Given the description of an element on the screen output the (x, y) to click on. 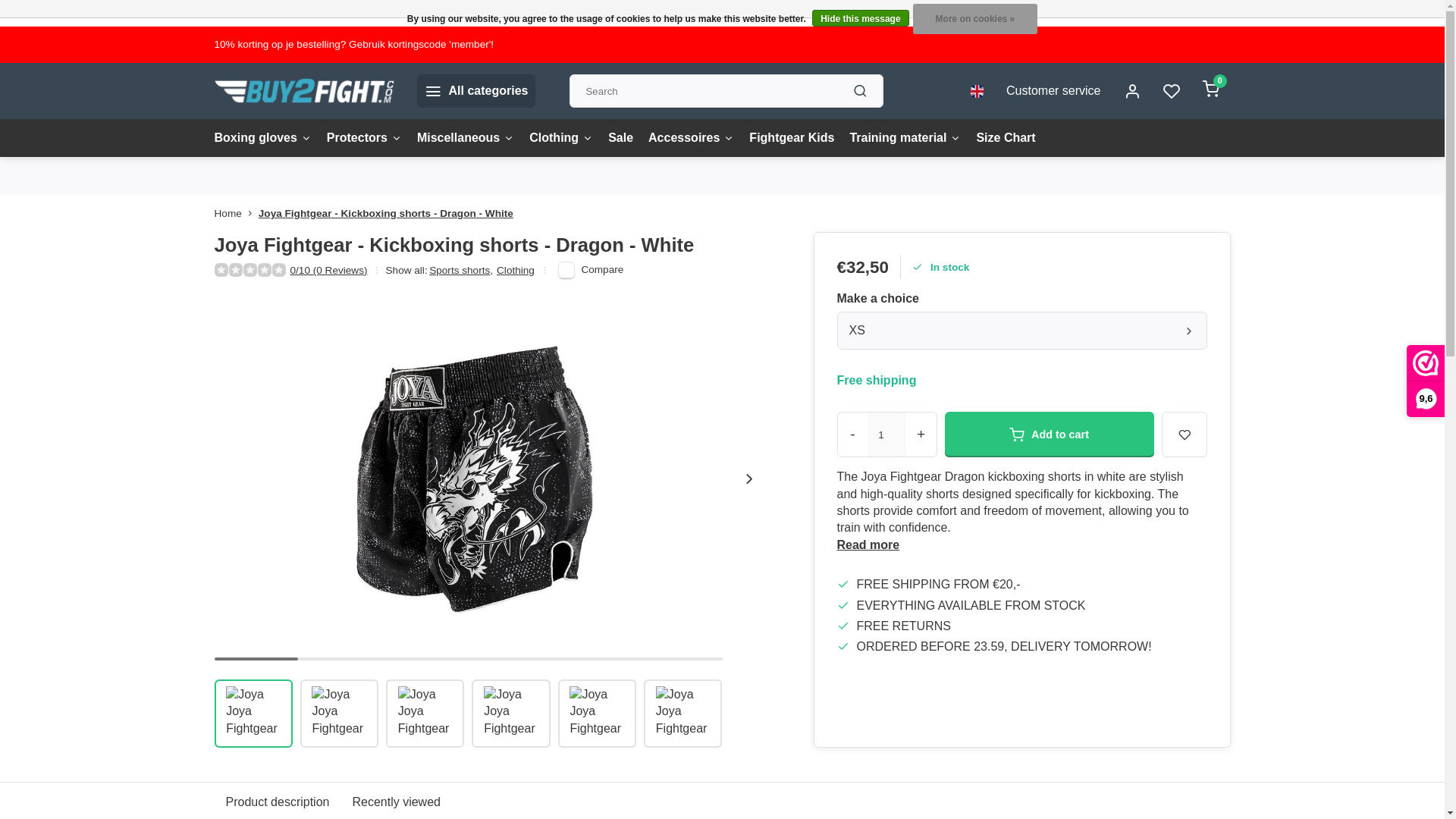
Protectors (363, 137)
Boxing gloves (262, 137)
Miscellaneous (464, 137)
0 (1210, 90)
All categories (475, 90)
Buy2Fight (303, 90)
Miscellaneous (464, 137)
Customer service (1053, 90)
Accessoires (690, 137)
Boxing gloves (262, 137)
